Given the description of an element on the screen output the (x, y) to click on. 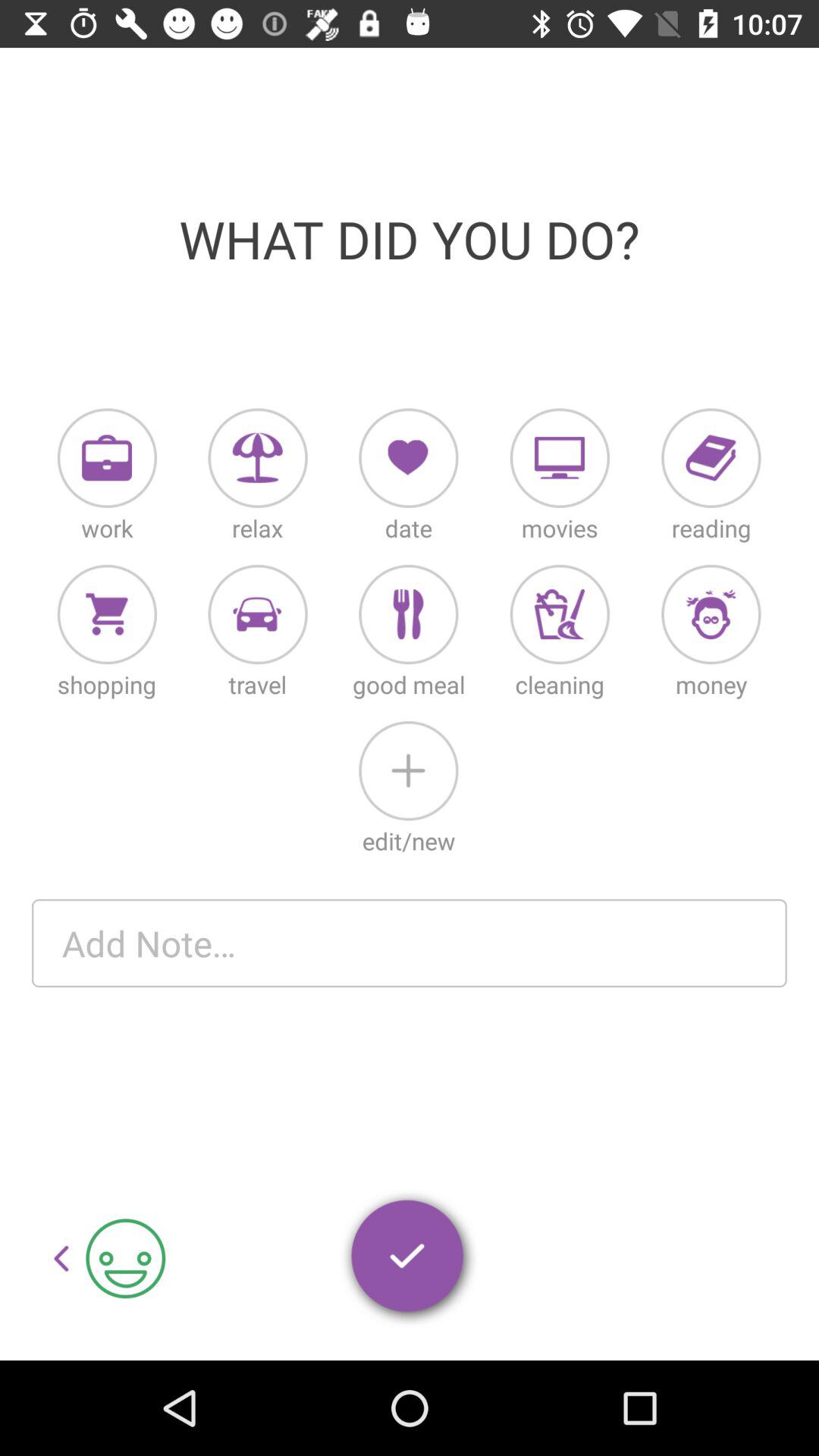
spent money (710, 614)
